Given the description of an element on the screen output the (x, y) to click on. 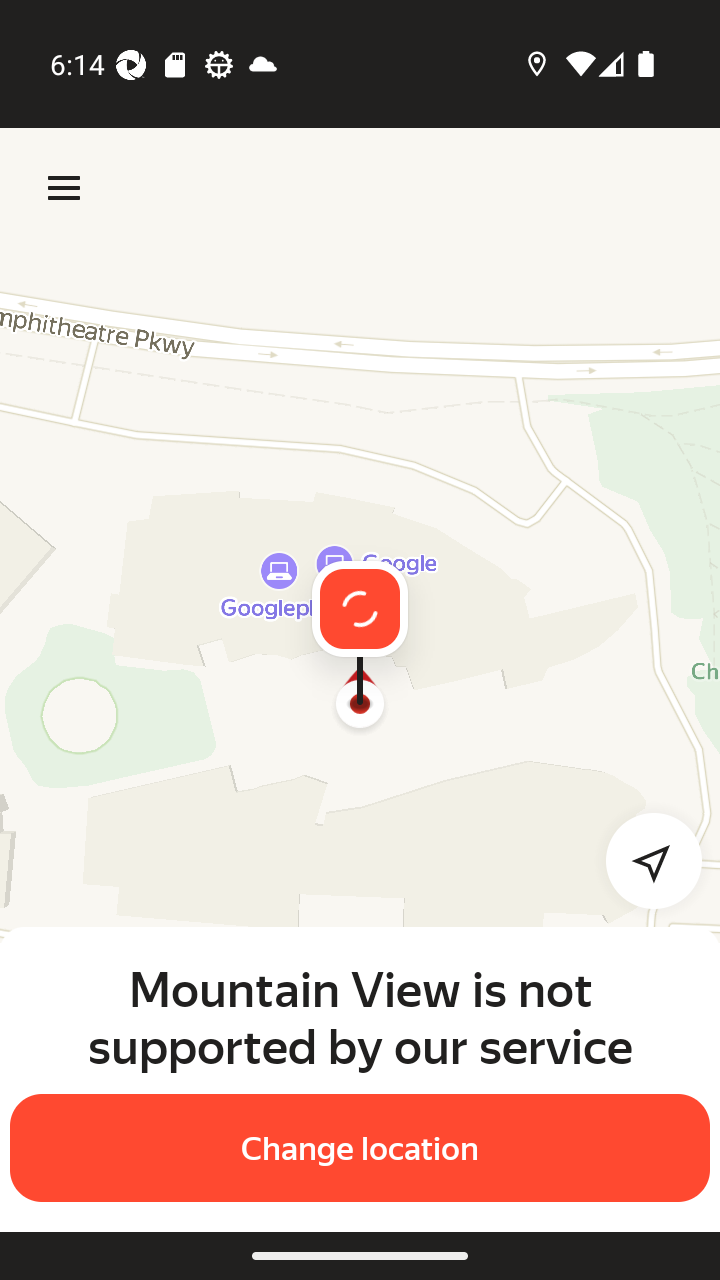
Menu Menu Menu (64, 188)
Detect my location (641, 860)
Mountain View is not supported by our service (360, 1017)
Change location (359, 1147)
